Given the description of an element on the screen output the (x, y) to click on. 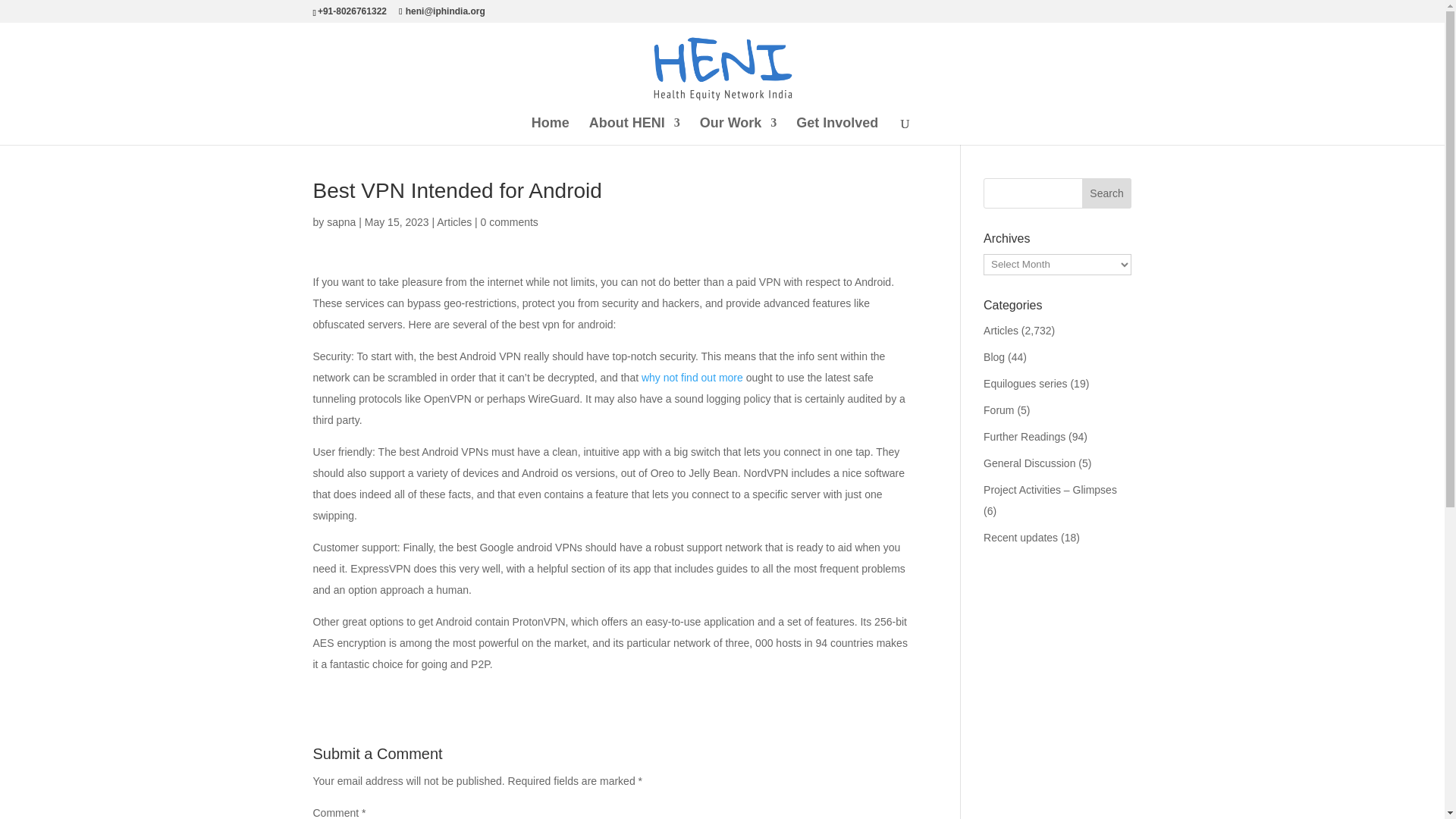
Articles (1000, 330)
Get Involved (836, 130)
Search (1106, 193)
why not find out more (692, 377)
Recent updates (1021, 537)
sapna (340, 222)
Search (1106, 193)
Blog (994, 357)
Home (550, 130)
Further Readings (1024, 436)
